Given the description of an element on the screen output the (x, y) to click on. 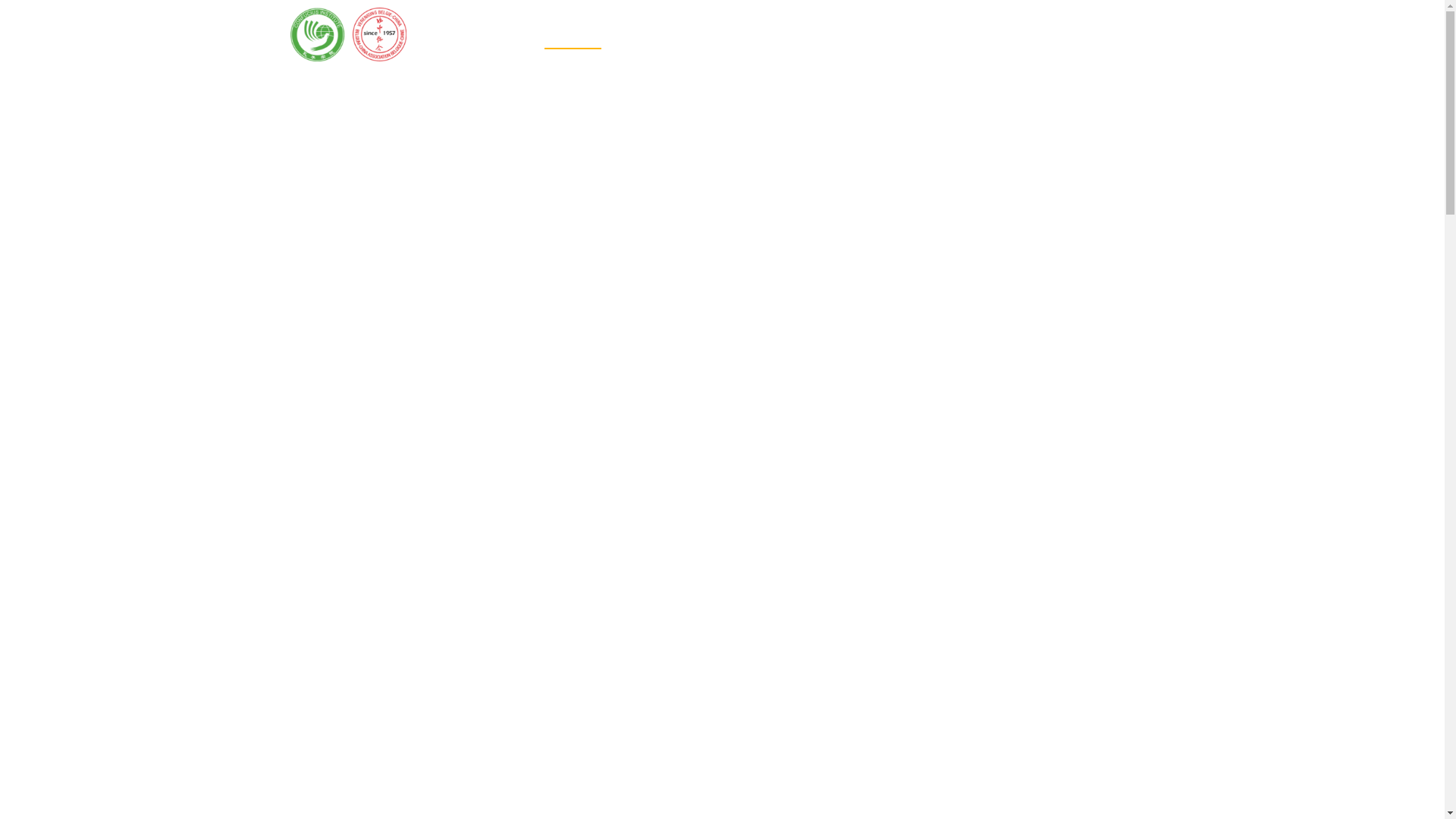
Association Belgique-Chine -  Element type: hover (347, 34)
SERVICES Element type: text (759, 34)
NOUVELLES Element type: text (933, 34)
NOS COURS Element type: text (666, 34)
BIENVENUE Element type: text (568, 34)
AGENDA Element type: text (850, 34)
CONTACT Element type: text (1020, 34)
